Given the description of an element on the screen output the (x, y) to click on. 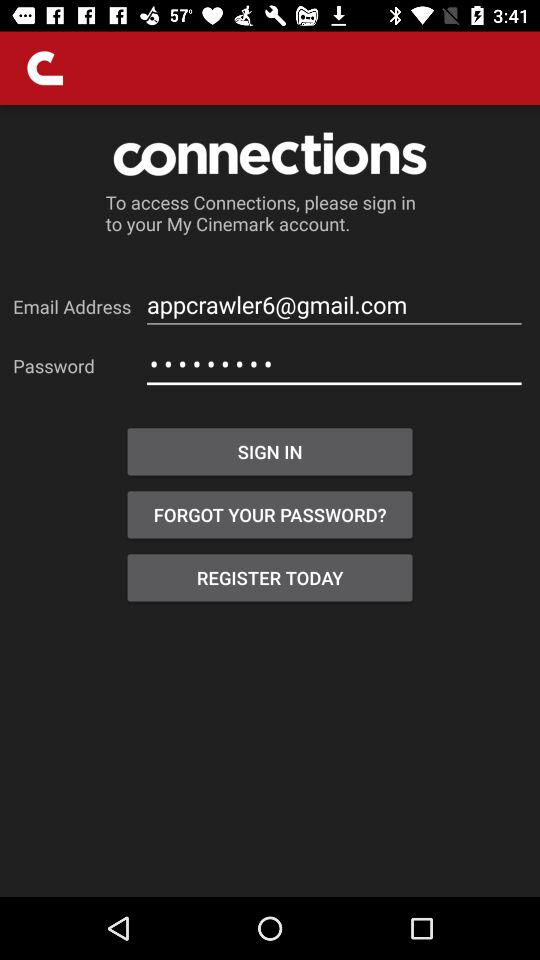
scroll to forgot your password? item (269, 514)
